Given the description of an element on the screen output the (x, y) to click on. 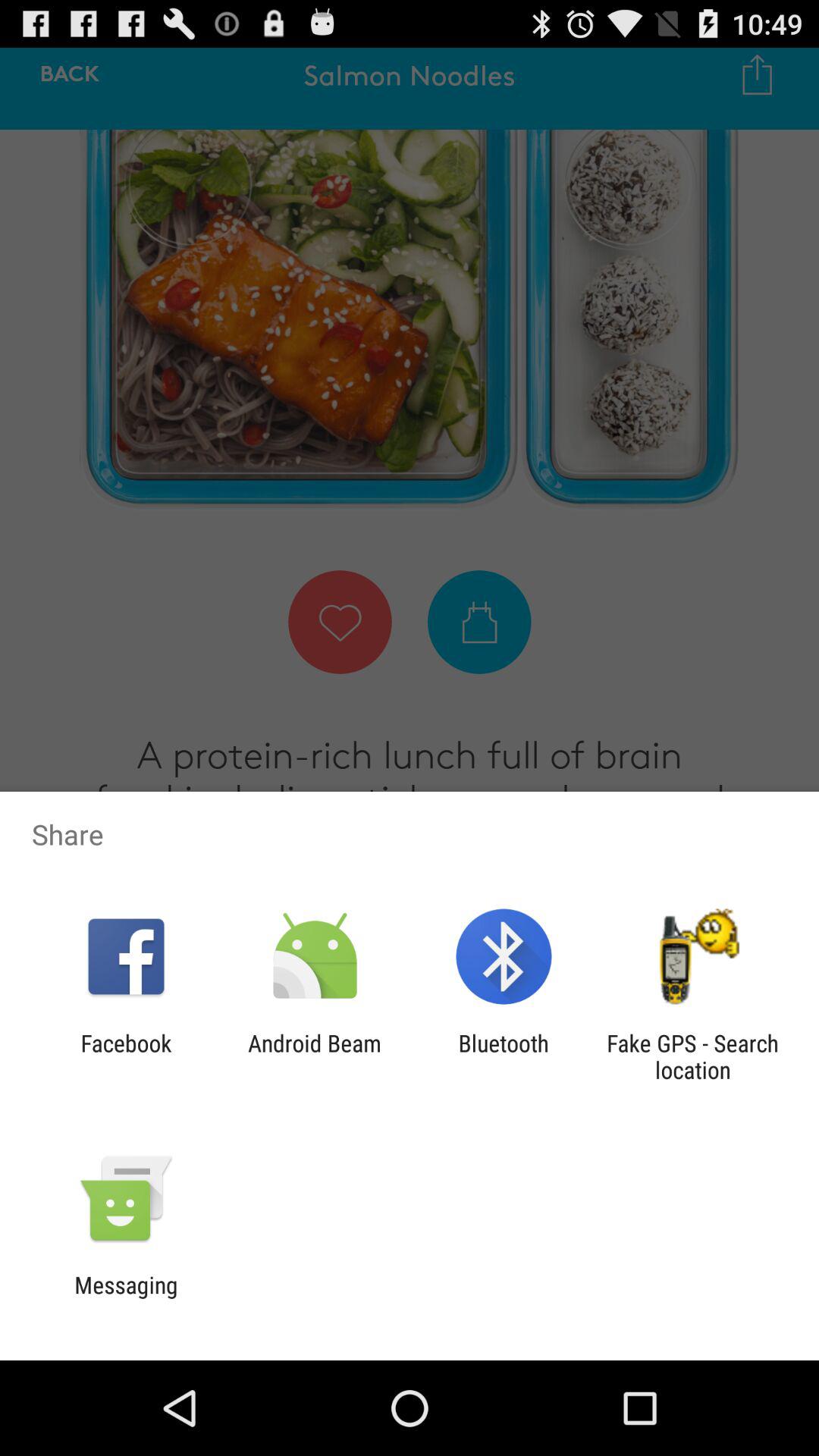
turn on the facebook app (125, 1056)
